Given the description of an element on the screen output the (x, y) to click on. 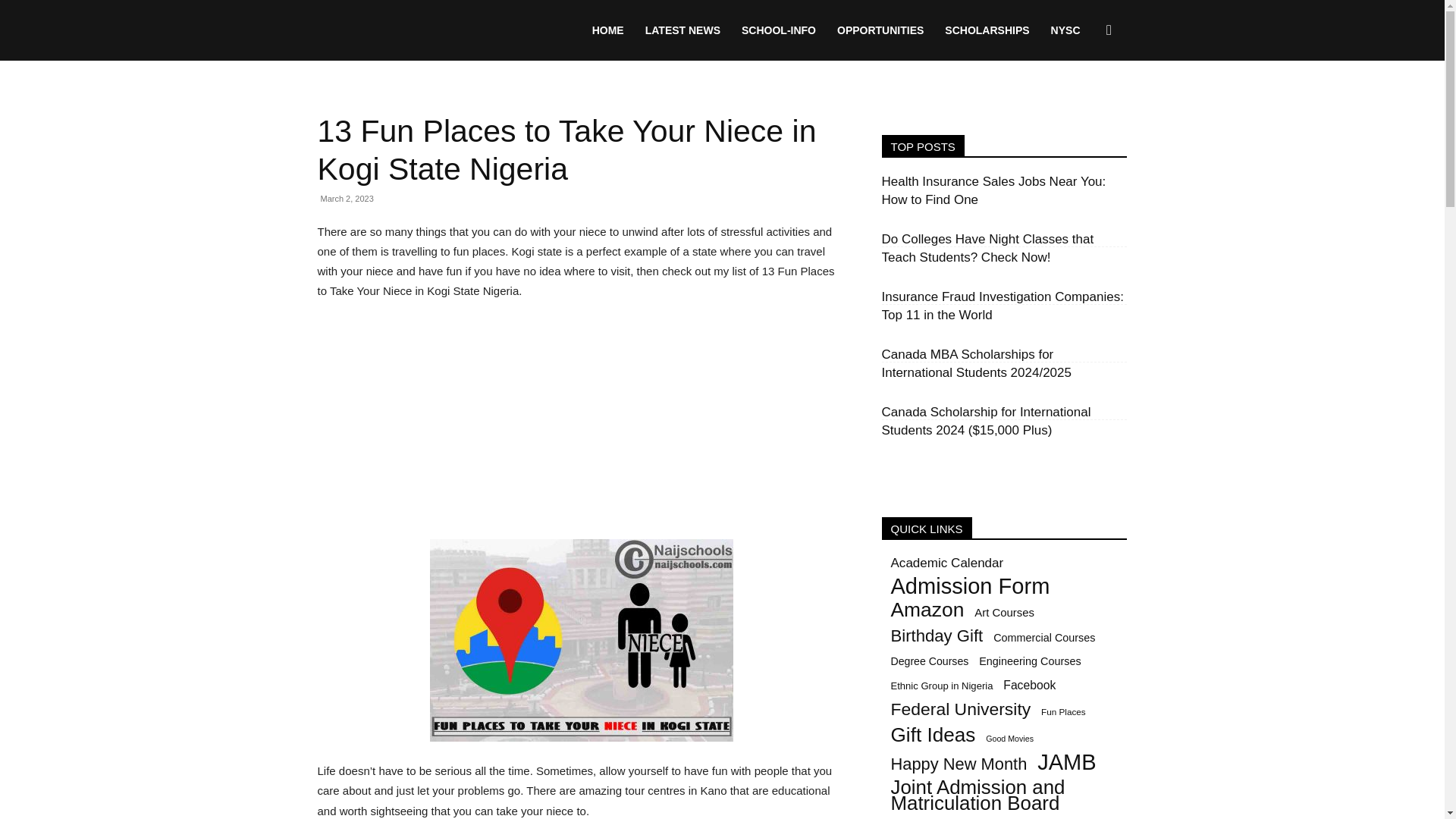
Health Insurance Sales Jobs Near You: How to Find One (992, 190)
SCHOOL-INFO (778, 30)
LATEST NEWS (682, 30)
NAIJSCHOOLS (430, 30)
Insurance Fraud Investigation Companies: Top 11 in the World (1001, 305)
Search (1085, 102)
HOME (607, 30)
